Given the description of an element on the screen output the (x, y) to click on. 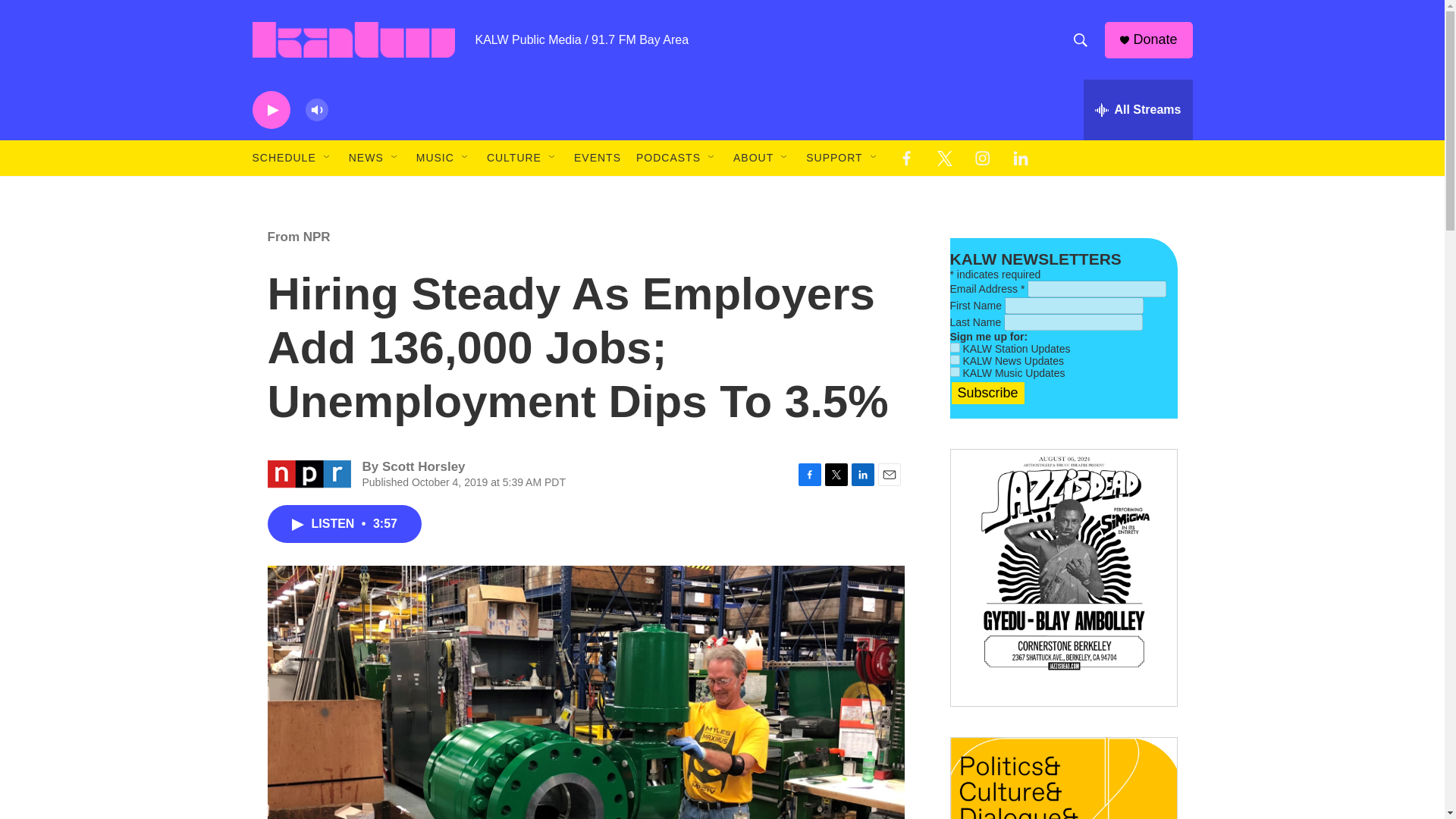
Subscribe (986, 393)
4 (954, 371)
1 (954, 359)
2 (954, 347)
